Given the description of an element on the screen output the (x, y) to click on. 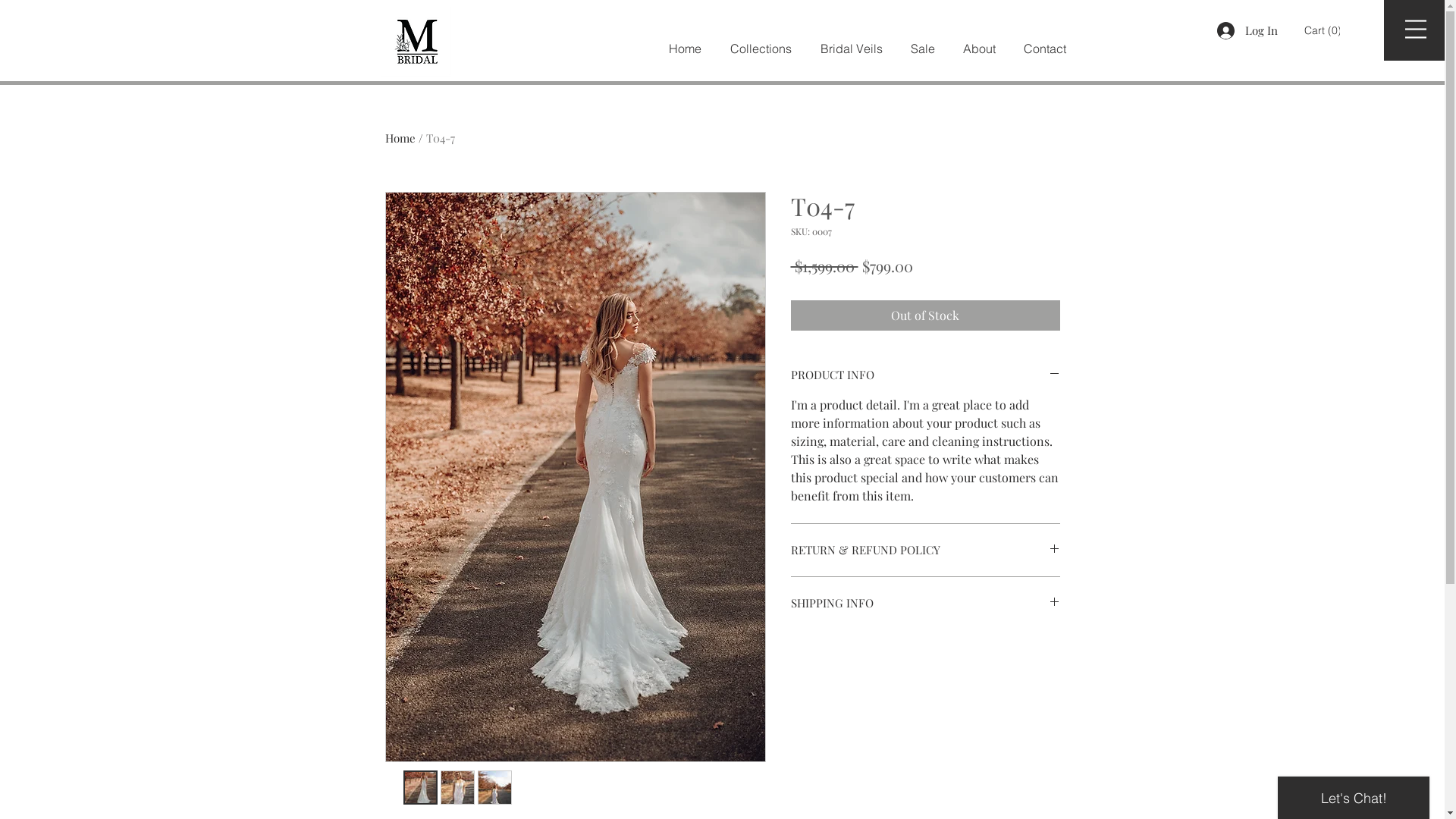
About Element type: text (979, 48)
Contact Element type: text (1045, 48)
Out of Stock Element type: text (924, 315)
PRODUCT INFO Element type: text (924, 374)
Home Element type: text (400, 137)
Sale Element type: text (922, 48)
Bridal Veils Element type: text (850, 48)
Home Element type: text (684, 48)
SHIPPING INFO Element type: text (924, 603)
Log In Element type: text (1247, 29)
Cart (0) Element type: text (1321, 30)
T04-7 Element type: text (440, 137)
RETURN & REFUND POLICY Element type: text (924, 550)
